Given the description of an element on the screen output the (x, y) to click on. 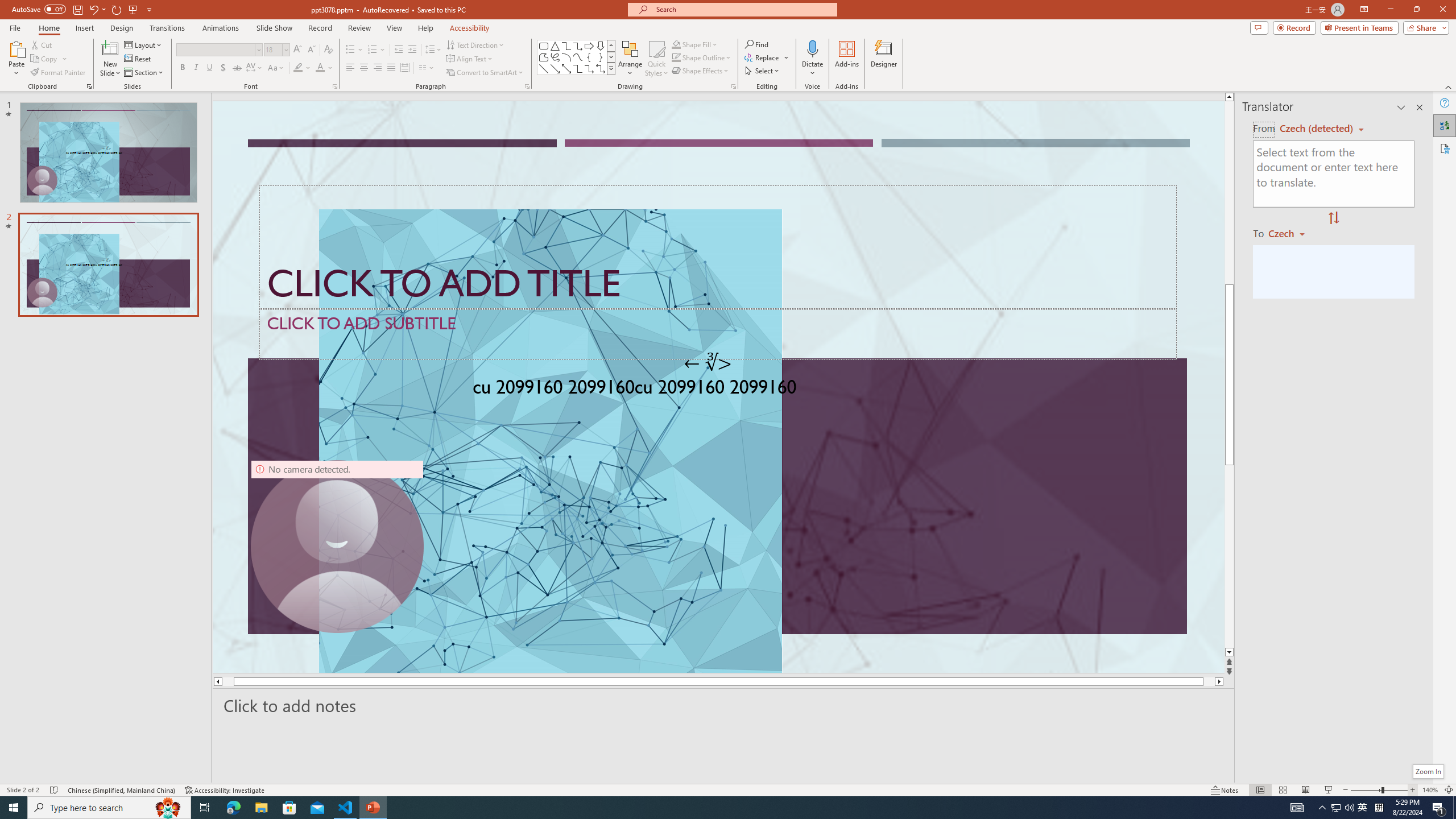
TextBox 7 (708, 363)
